Given the description of an element on the screen output the (x, y) to click on. 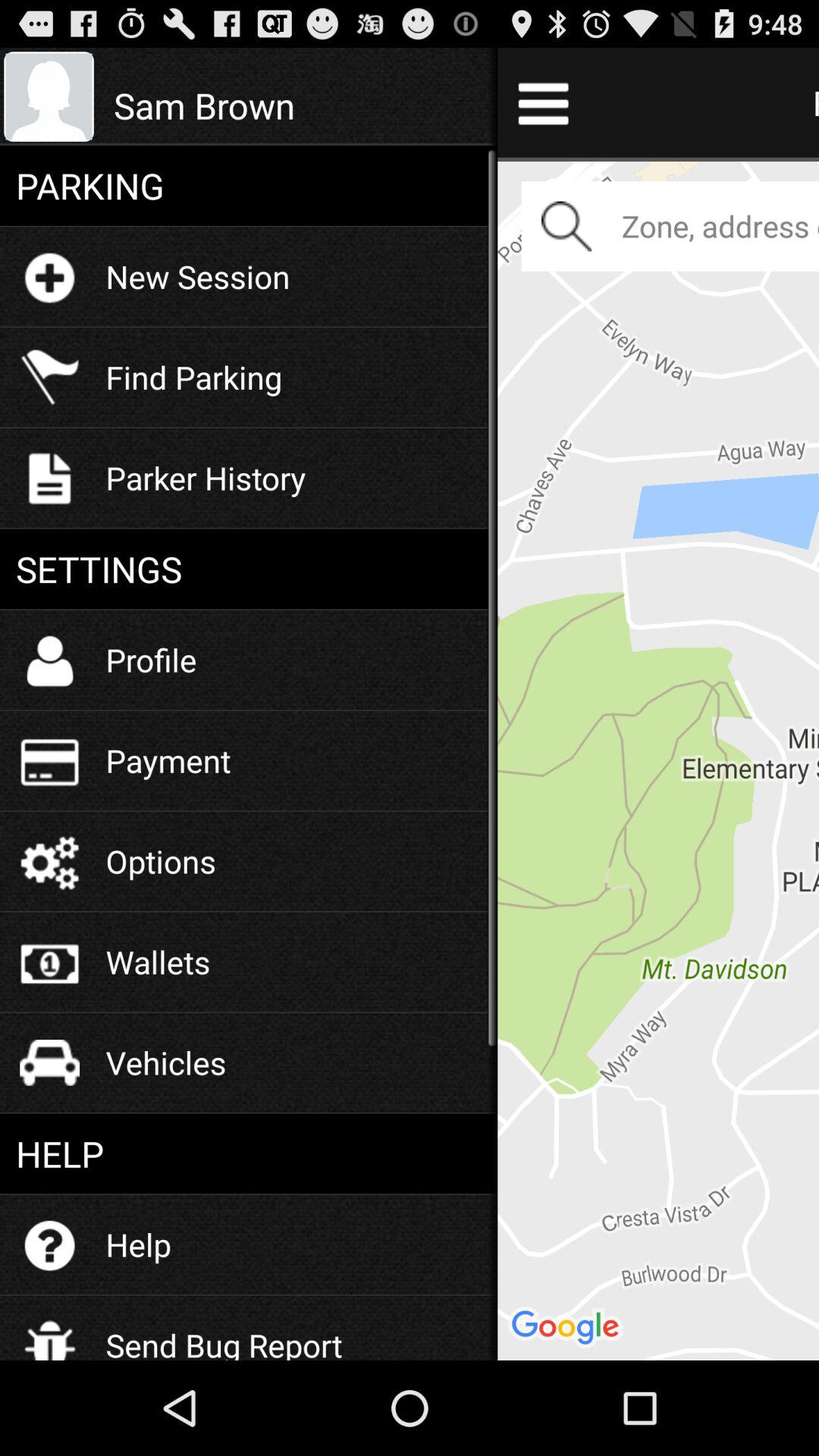
scroll to profile item (150, 659)
